Given the description of an element on the screen output the (x, y) to click on. 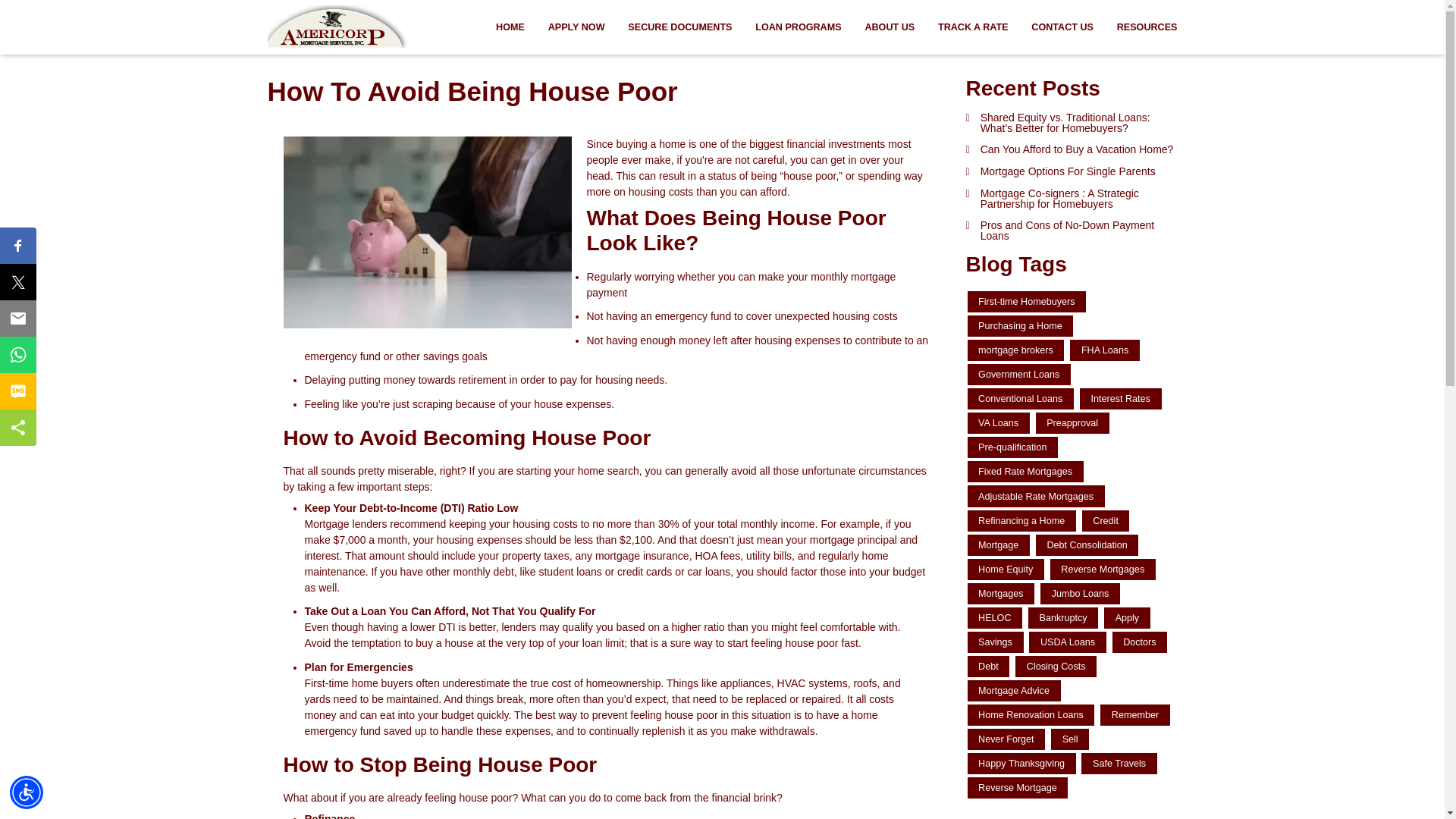
Mortgage Co-signers : A Strategic Partnership for Homebuyers (1071, 198)
Accessibility Menu (26, 792)
mortgage brokers (1016, 350)
APPLY NOW (575, 27)
First-time Homebuyers (1027, 301)
Can You Afford to Buy a Vacation Home? (1071, 149)
CONTACT US (1062, 27)
FHA Loans (1105, 350)
Pros and Cons of No-Down Payment Loans (1071, 230)
ABOUT US (889, 27)
Purchasing a Home (1021, 325)
LOAN PROGRAMS (798, 27)
Mortgage Options For Single Parents (1071, 171)
HOME (510, 27)
RESOURCES (1140, 27)
